Given the description of an element on the screen output the (x, y) to click on. 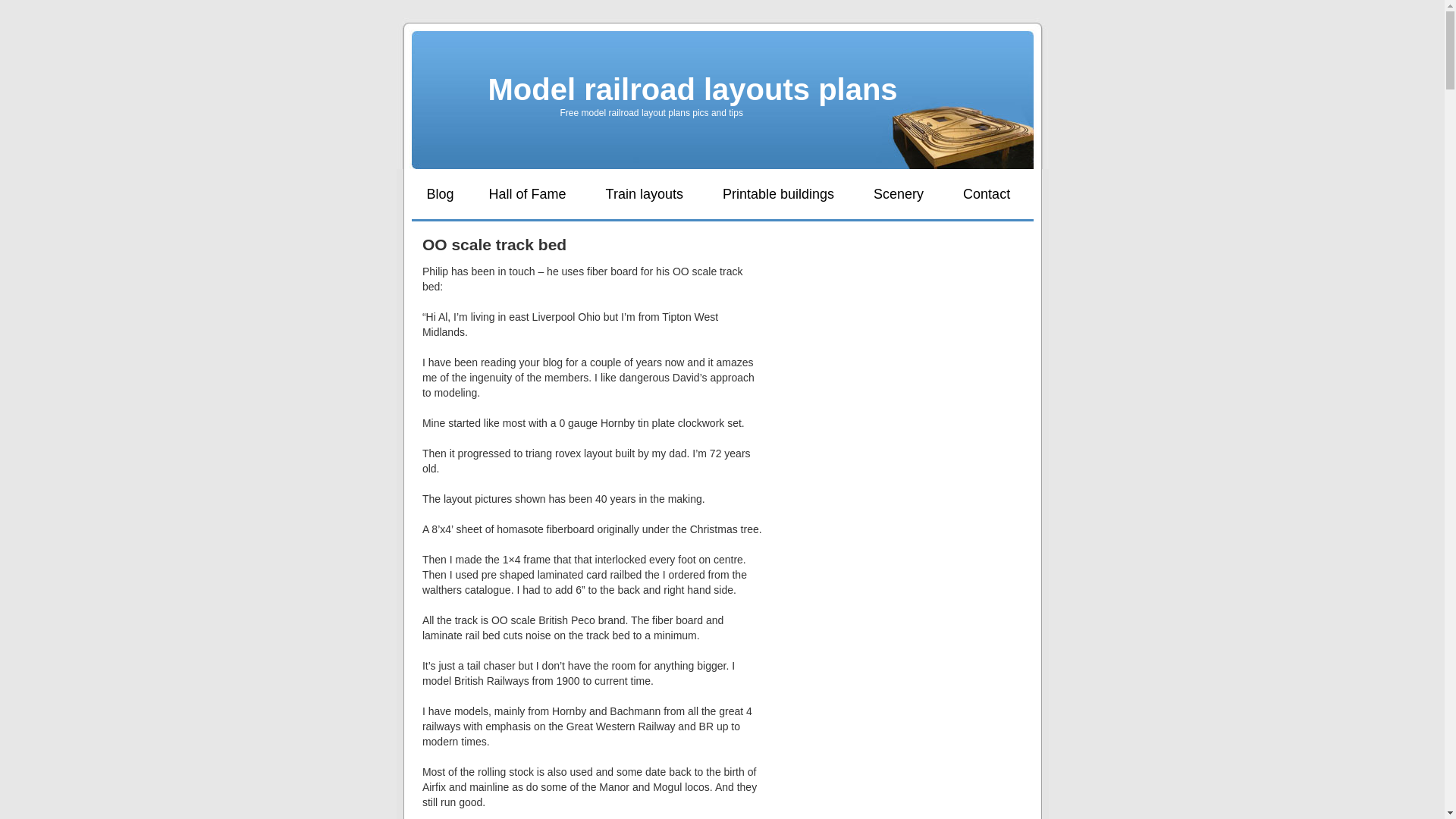
Hall of Fame (527, 193)
Model railroad layouts plans (692, 89)
Model train scenery (898, 193)
Blog (439, 193)
Model railroad layouts plans (692, 89)
Train layouts (644, 193)
